Given the description of an element on the screen output the (x, y) to click on. 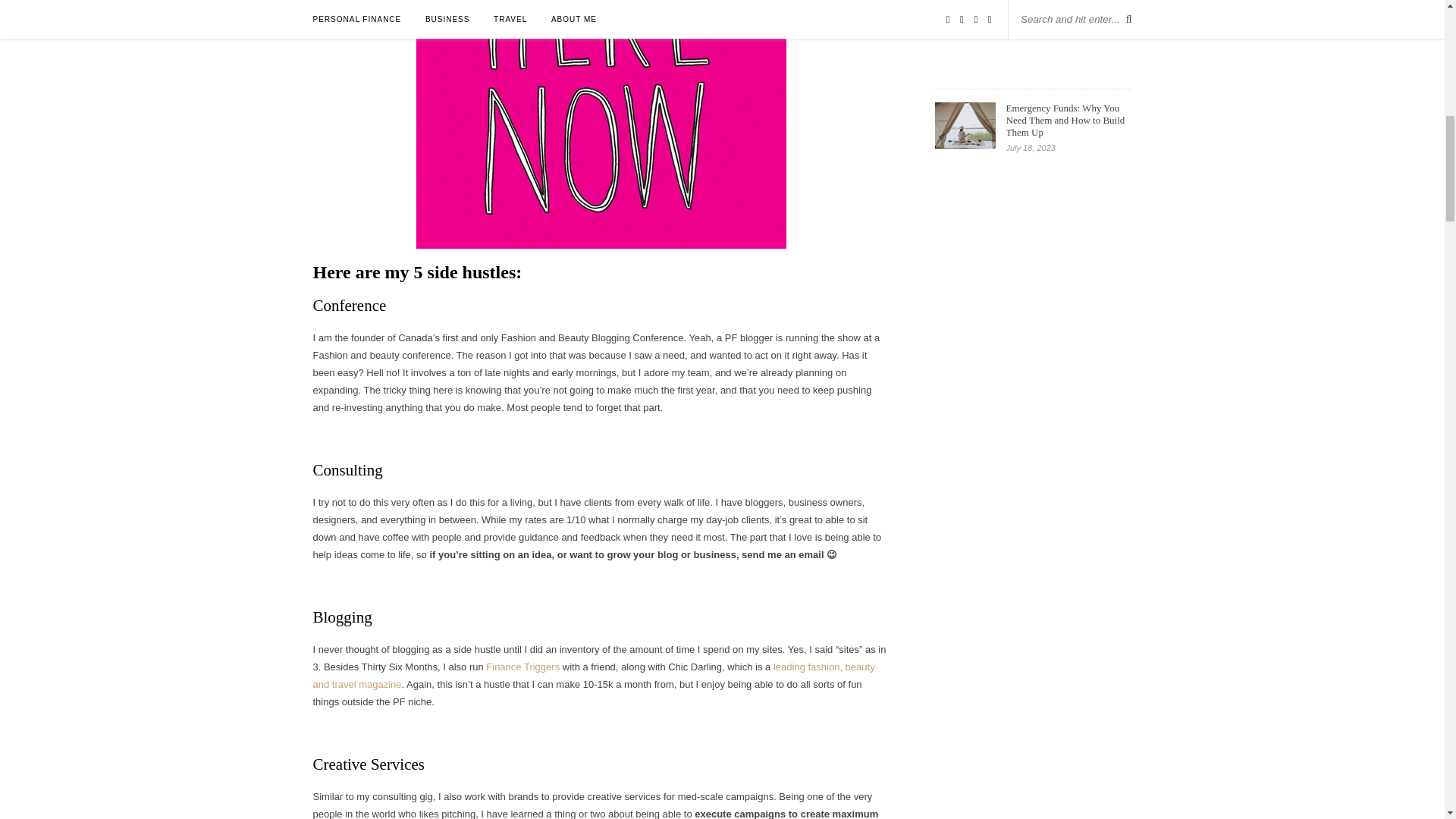
Finance Triggers (522, 666)
leading fashion, beauty and travel magazine (594, 675)
